Given the description of an element on the screen output the (x, y) to click on. 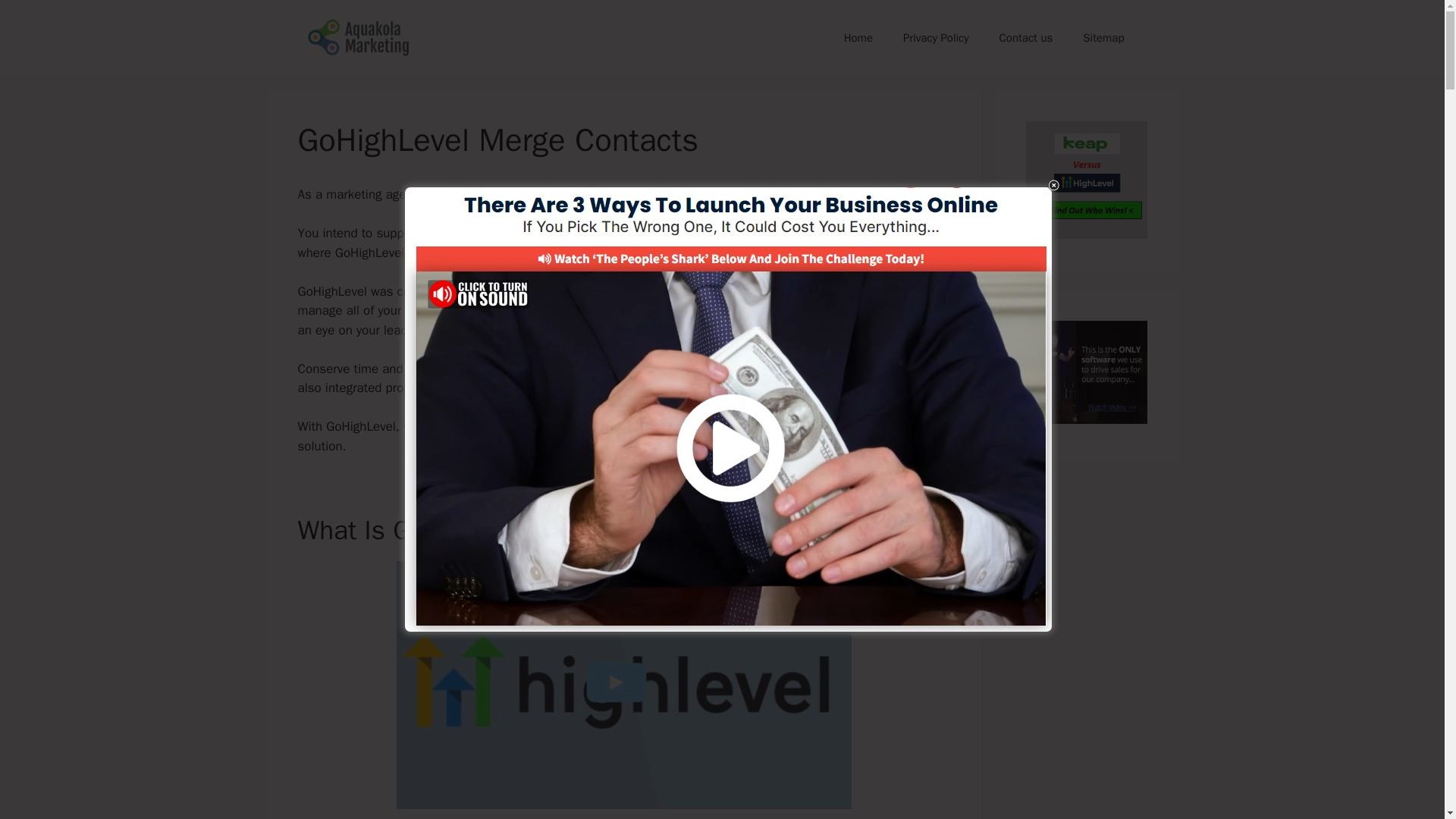
Contact us (1026, 37)
Privacy Policy (936, 37)
Home (858, 37)
Sitemap (1102, 37)
